Given the description of an element on the screen output the (x, y) to click on. 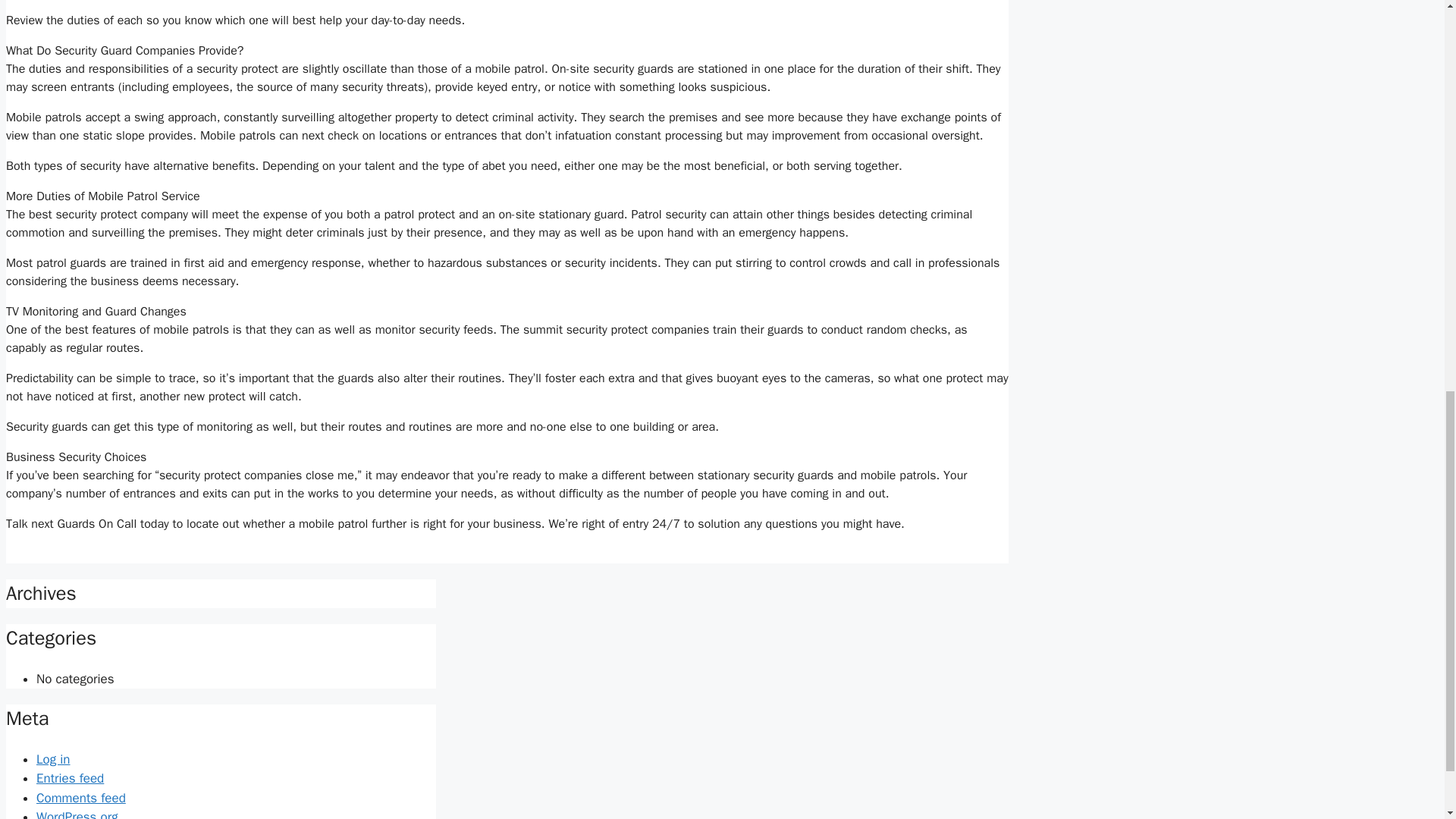
WordPress.org (76, 814)
Log in (52, 759)
Comments feed (80, 797)
Entries feed (69, 778)
